Given the description of an element on the screen output the (x, y) to click on. 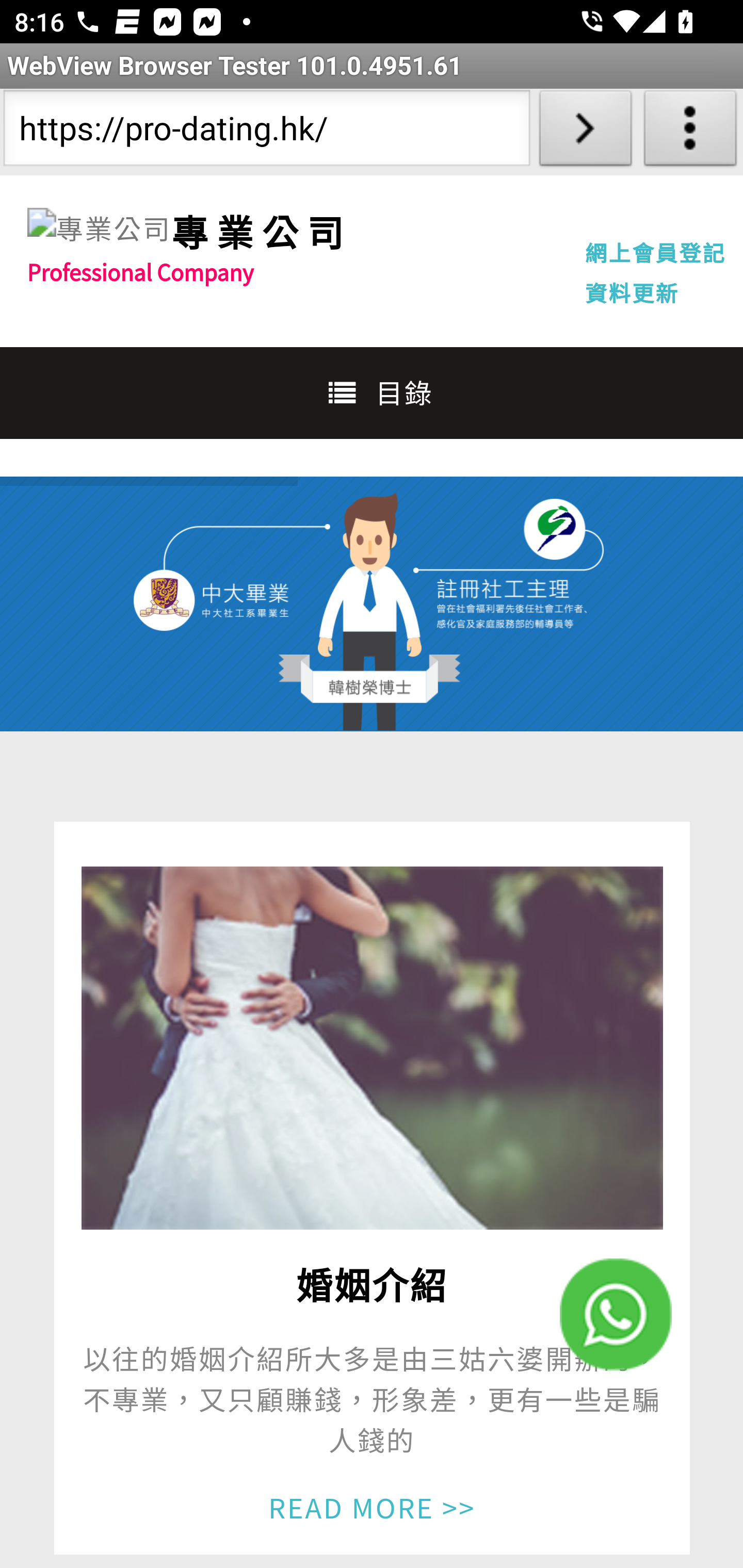
https://pro-dating.hk/ (266, 132)
Load URL (585, 132)
About WebView (690, 132)
專業公司 (261, 230)
專業公司 (99, 228)
網上會員登記 (655, 251)
資料更新 (631, 292)
目錄  目錄 (371, 391)
婚姻介紹 (371, 1047)
sidewhatsapp (616, 1314)
READ MORE >> (372, 1506)
